Given the description of an element on the screen output the (x, y) to click on. 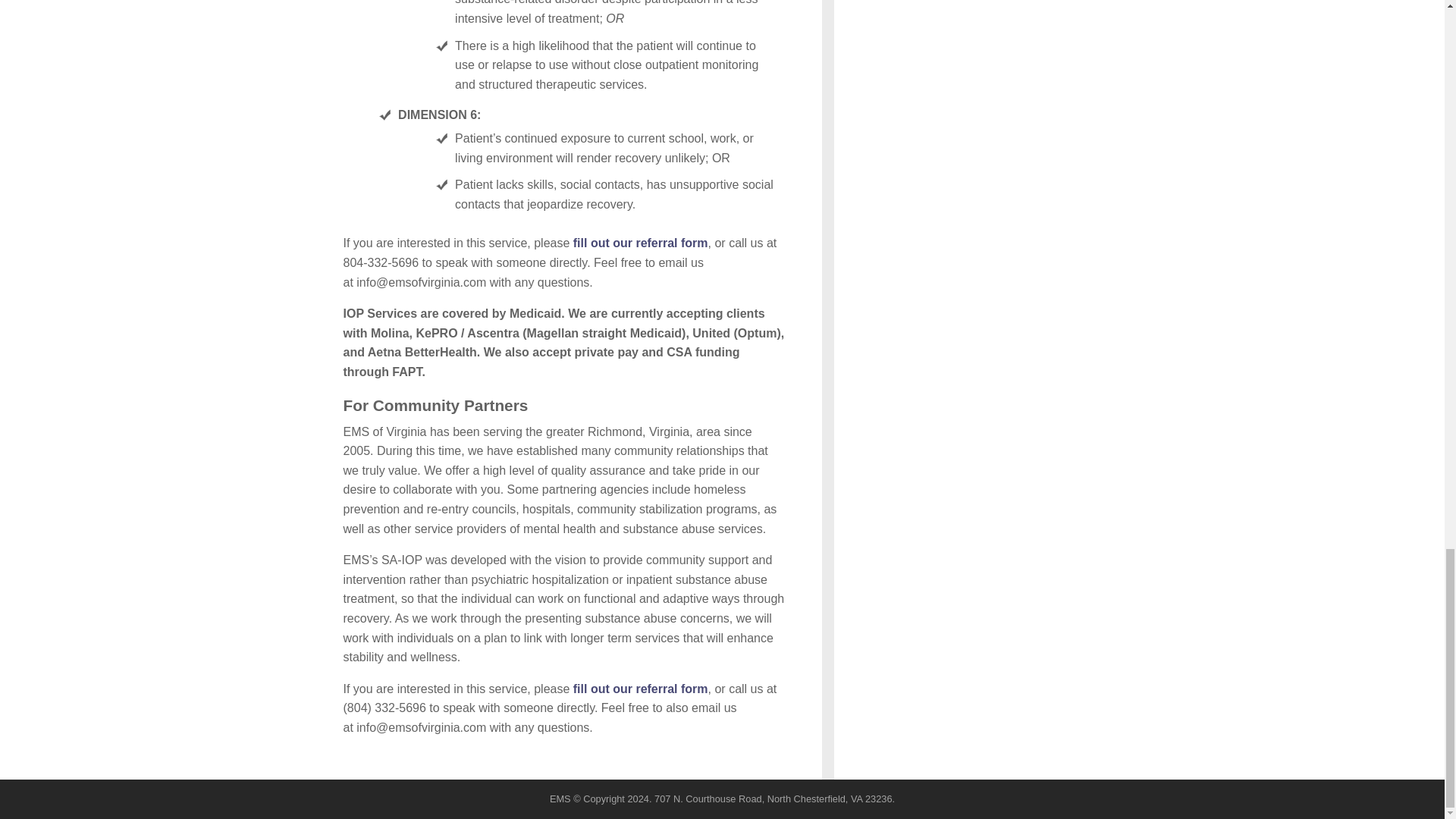
fill out our referral form (640, 242)
fill out our referral form (640, 688)
